Given the description of an element on the screen output the (x, y) to click on. 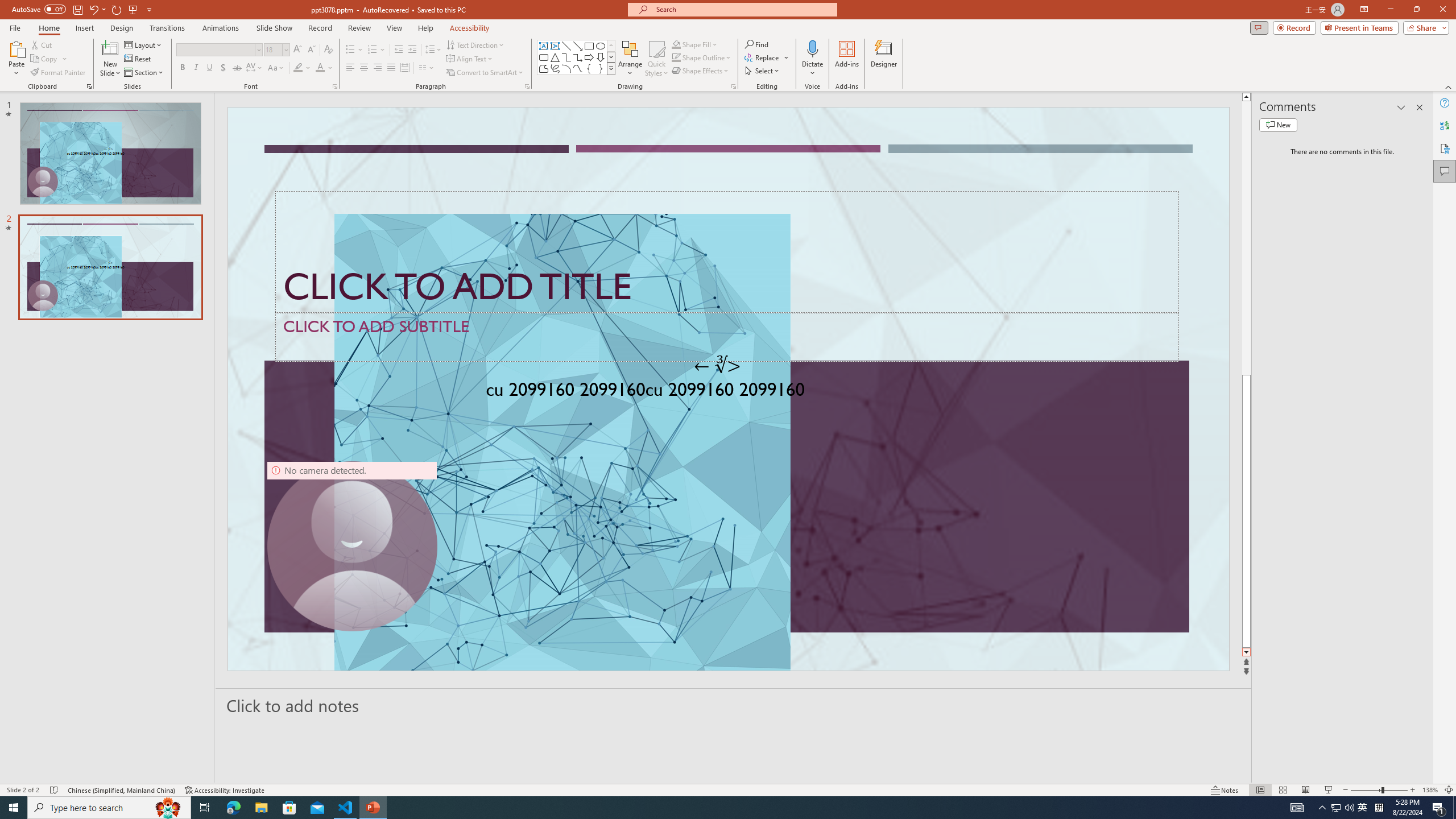
Zoom 138% (1430, 790)
Shape Outline Green, Accent 1 (675, 56)
